Given the description of an element on the screen output the (x, y) to click on. 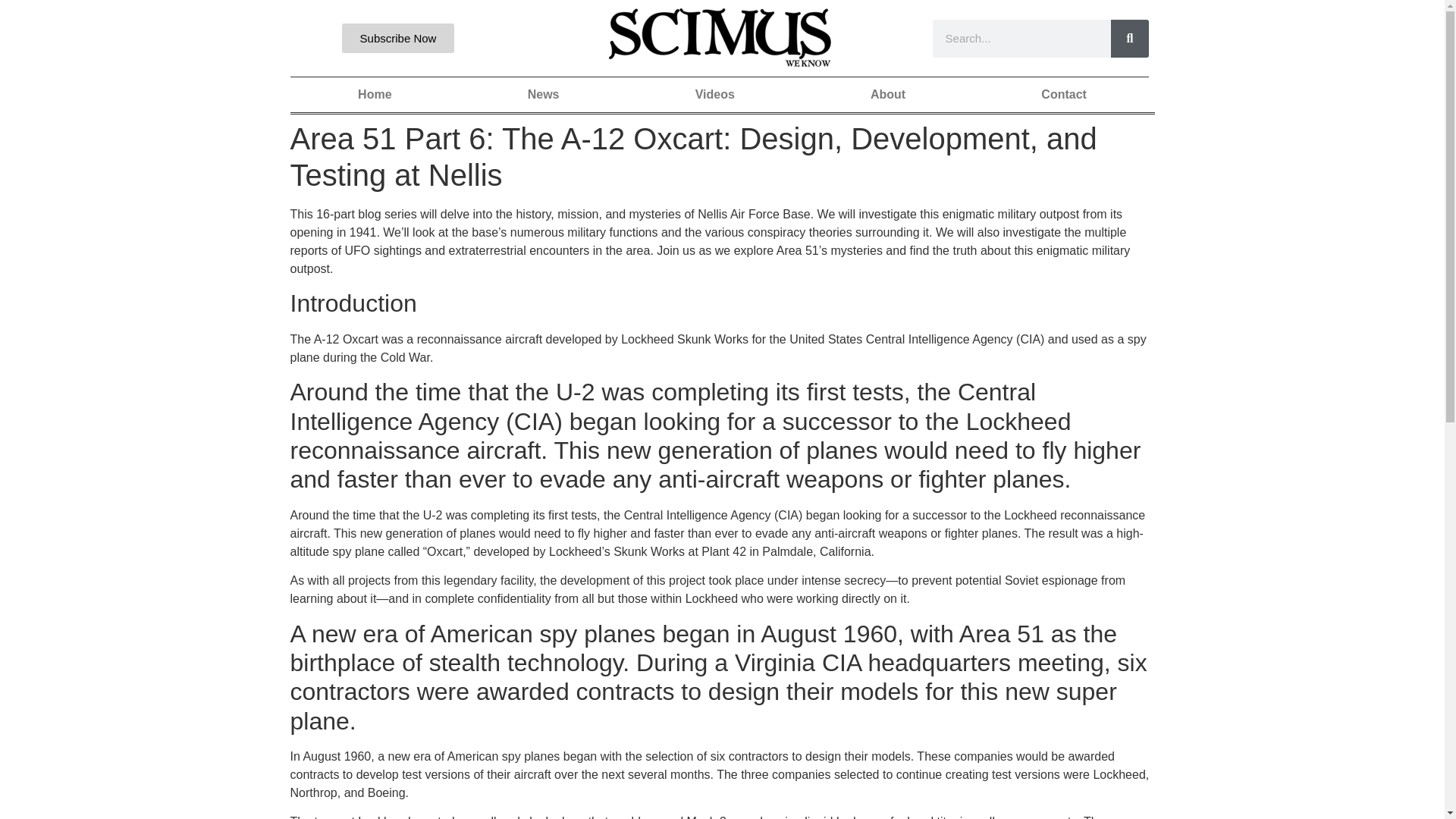
Contact (1064, 94)
News (543, 94)
Subscribe Now (398, 38)
Videos (714, 94)
Home (374, 94)
About (887, 94)
